Given the description of an element on the screen output the (x, y) to click on. 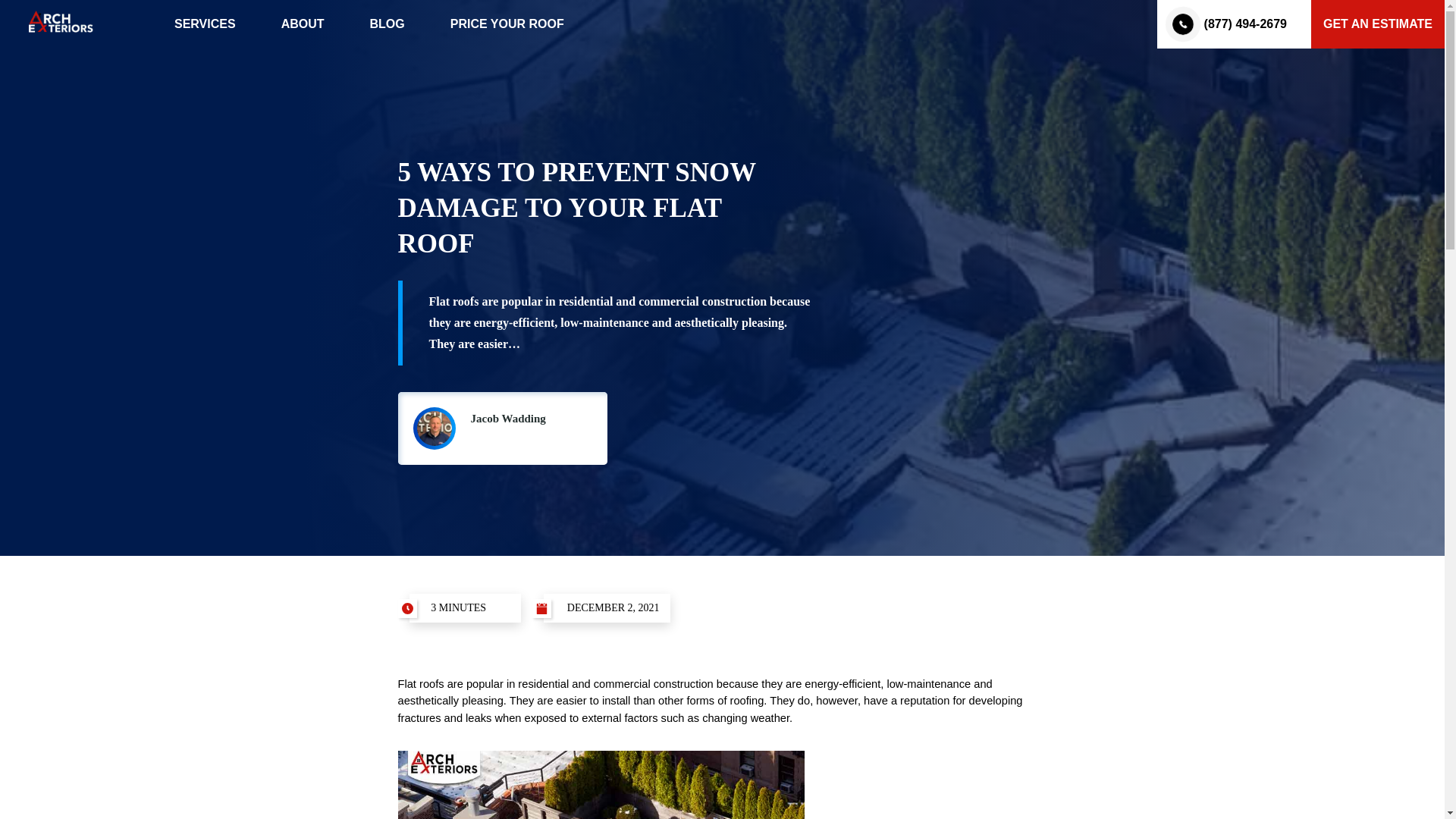
SERVICES (204, 23)
PRICE YOUR ROOF (506, 23)
ABOUT (302, 23)
BLOG (386, 23)
